Given the description of an element on the screen output the (x, y) to click on. 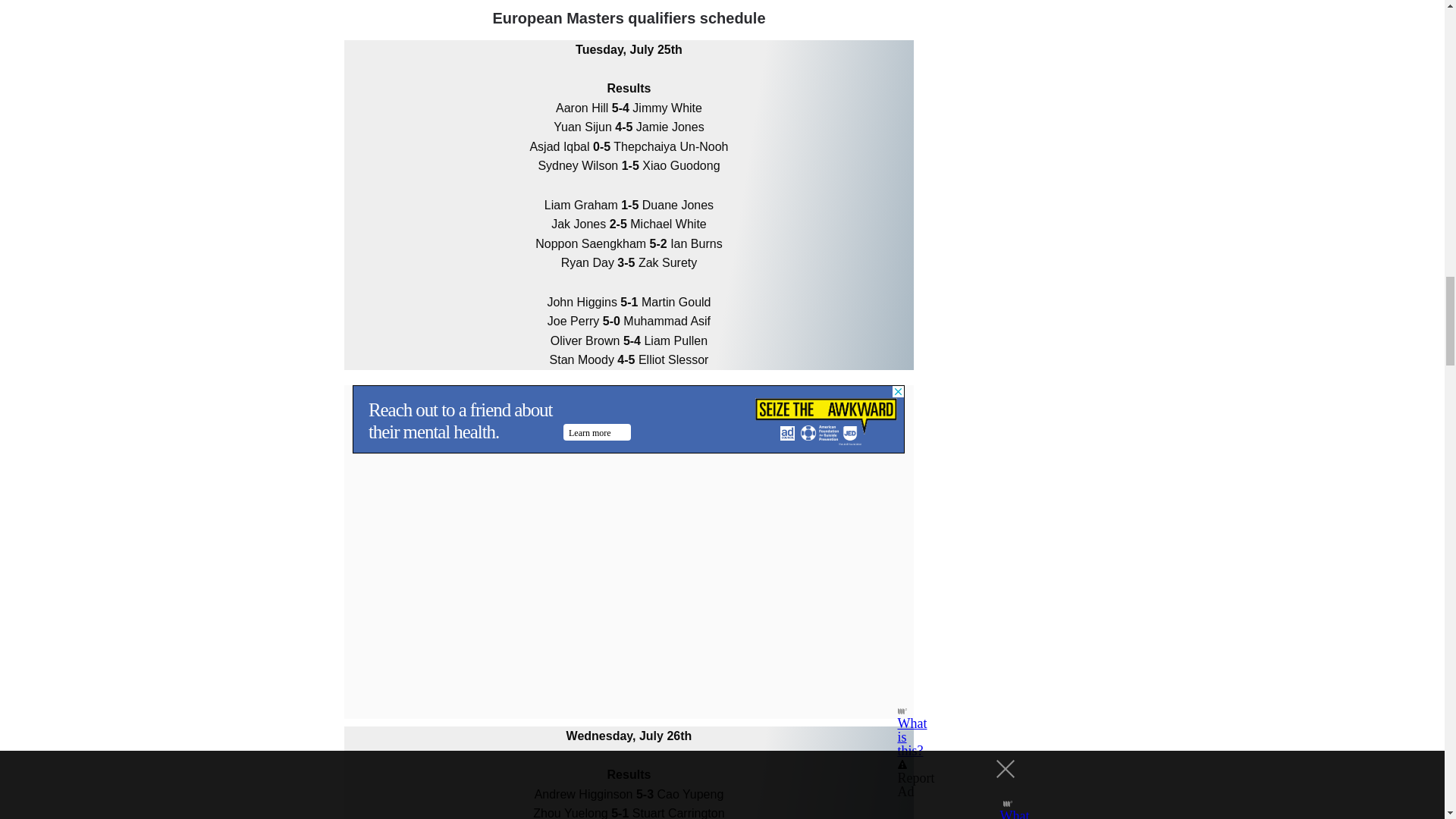
3rd party ad content (628, 418)
